Given the description of an element on the screen output the (x, y) to click on. 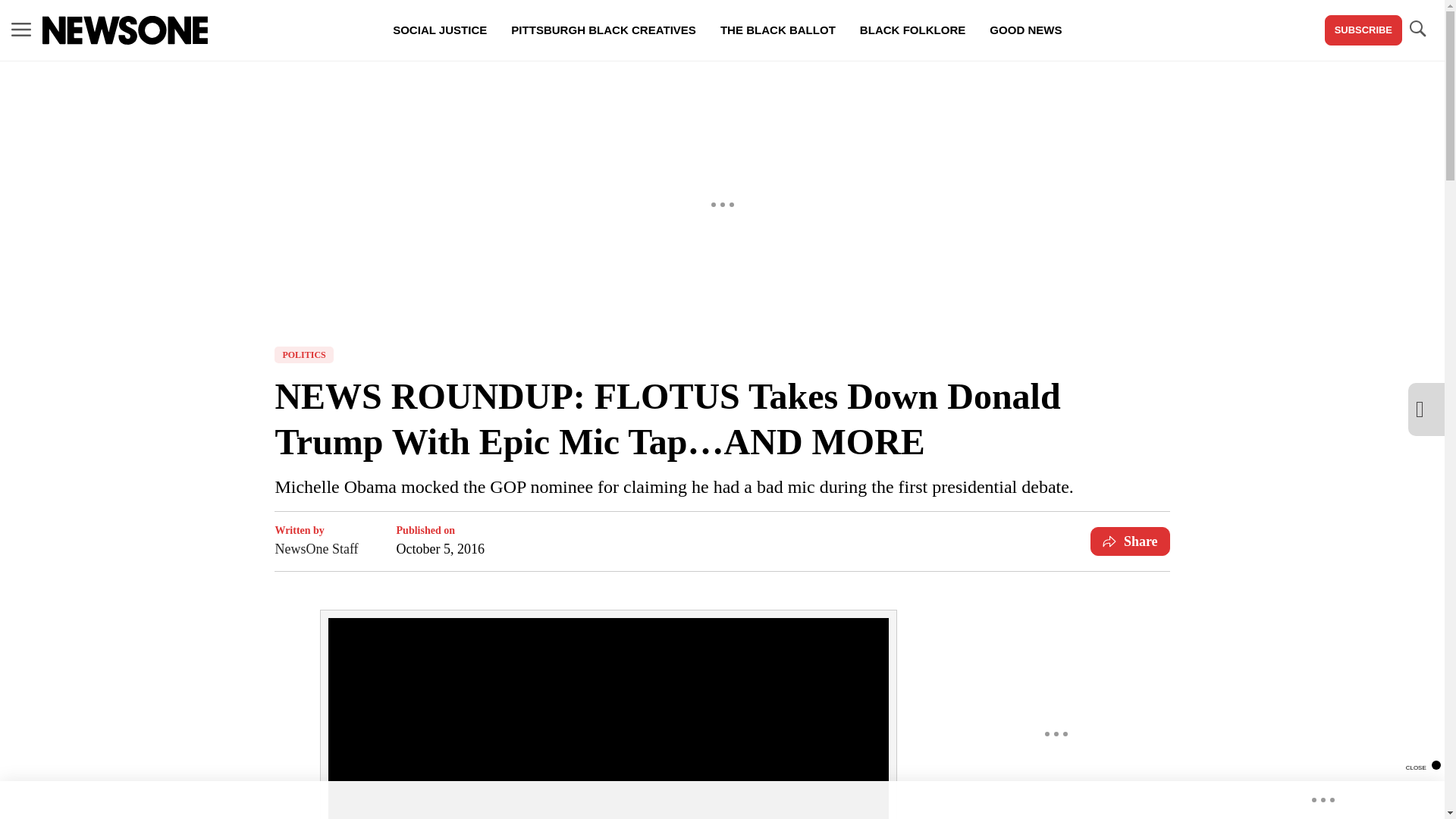
POLITICS (304, 354)
TOGGLE SEARCH (1417, 28)
GOOD NEWS (1025, 30)
NewsOne Staff (316, 548)
TOGGLE SEARCH (1417, 30)
PITTSBURGH BLACK CREATIVES (603, 30)
THE BLACK BALLOT (777, 30)
MENU (20, 30)
SUBSCRIBE (1363, 30)
BLACK FOLKLORE (911, 30)
SOCIAL JUSTICE (439, 30)
Share (1130, 541)
MENU (20, 29)
